Given the description of an element on the screen output the (x, y) to click on. 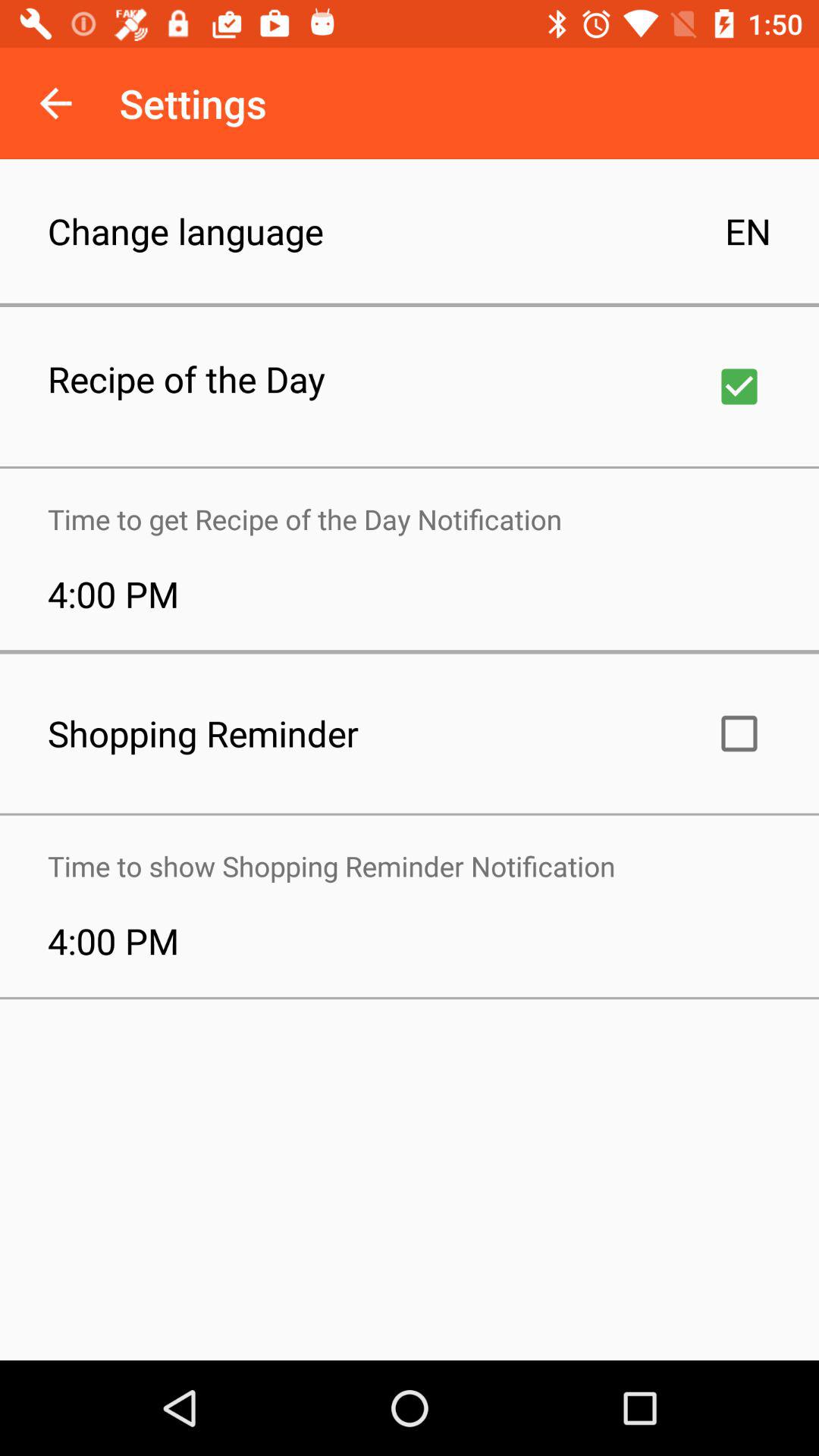
toggle recipe of the day (739, 386)
